Given the description of an element on the screen output the (x, y) to click on. 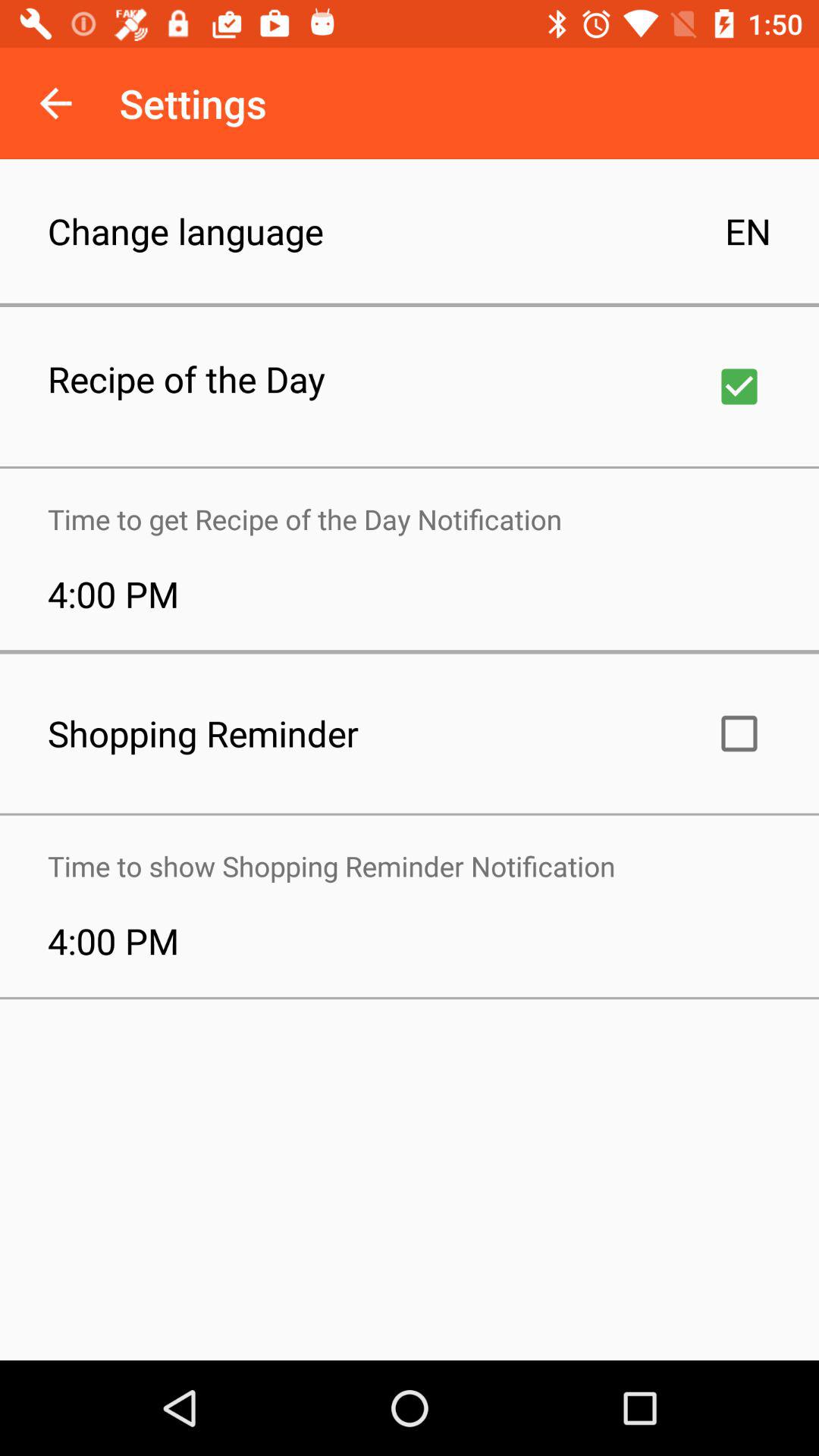
toggle recipe of the day (739, 386)
